Given the description of an element on the screen output the (x, y) to click on. 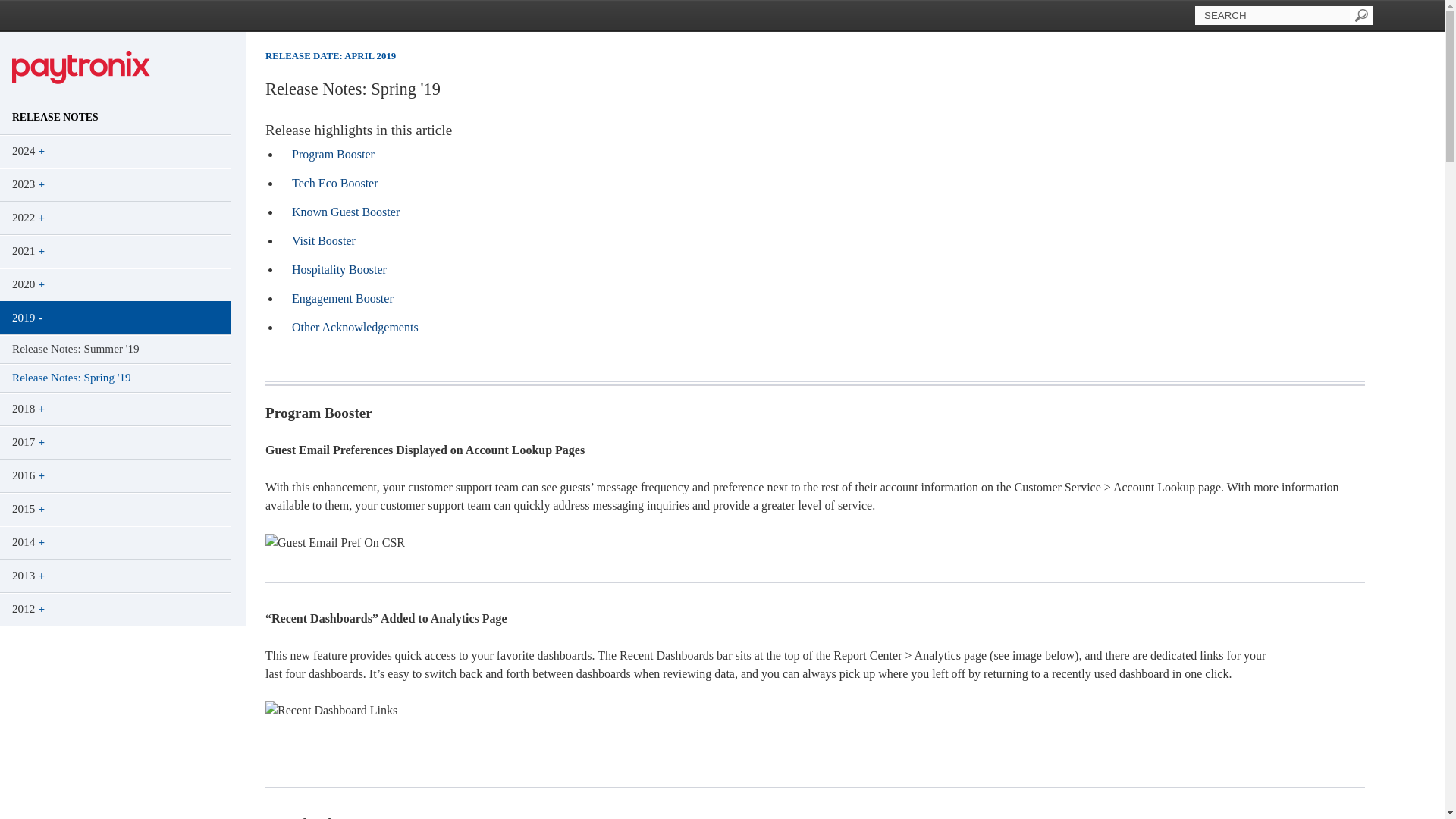
SEARCH (1272, 15)
RELEASE NOTES (115, 117)
